Given the description of an element on the screen output the (x, y) to click on. 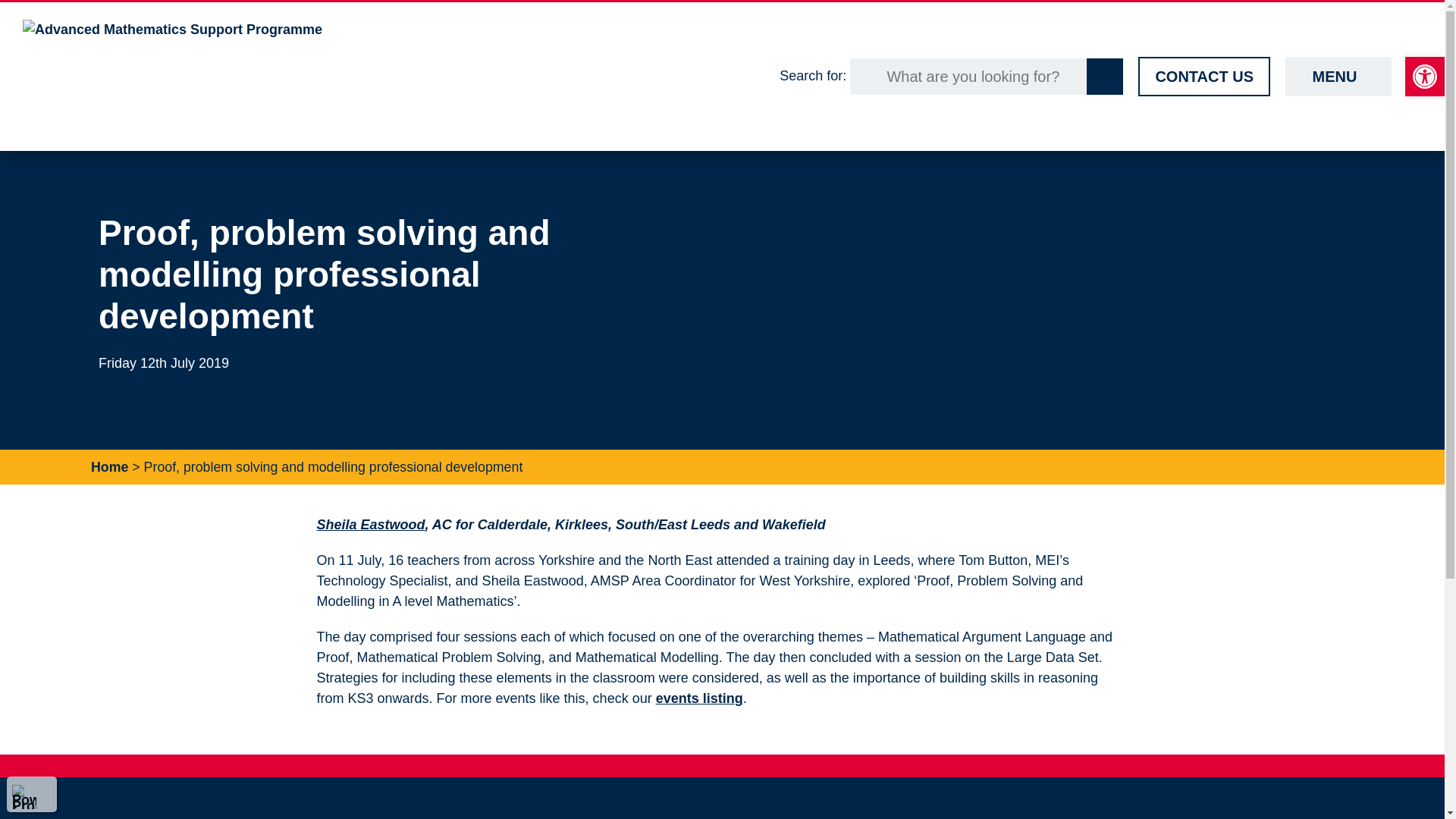
MENU (1338, 76)
CONTACT US (1203, 76)
Accessibility Tools (1424, 76)
